Given the description of an element on the screen output the (x, y) to click on. 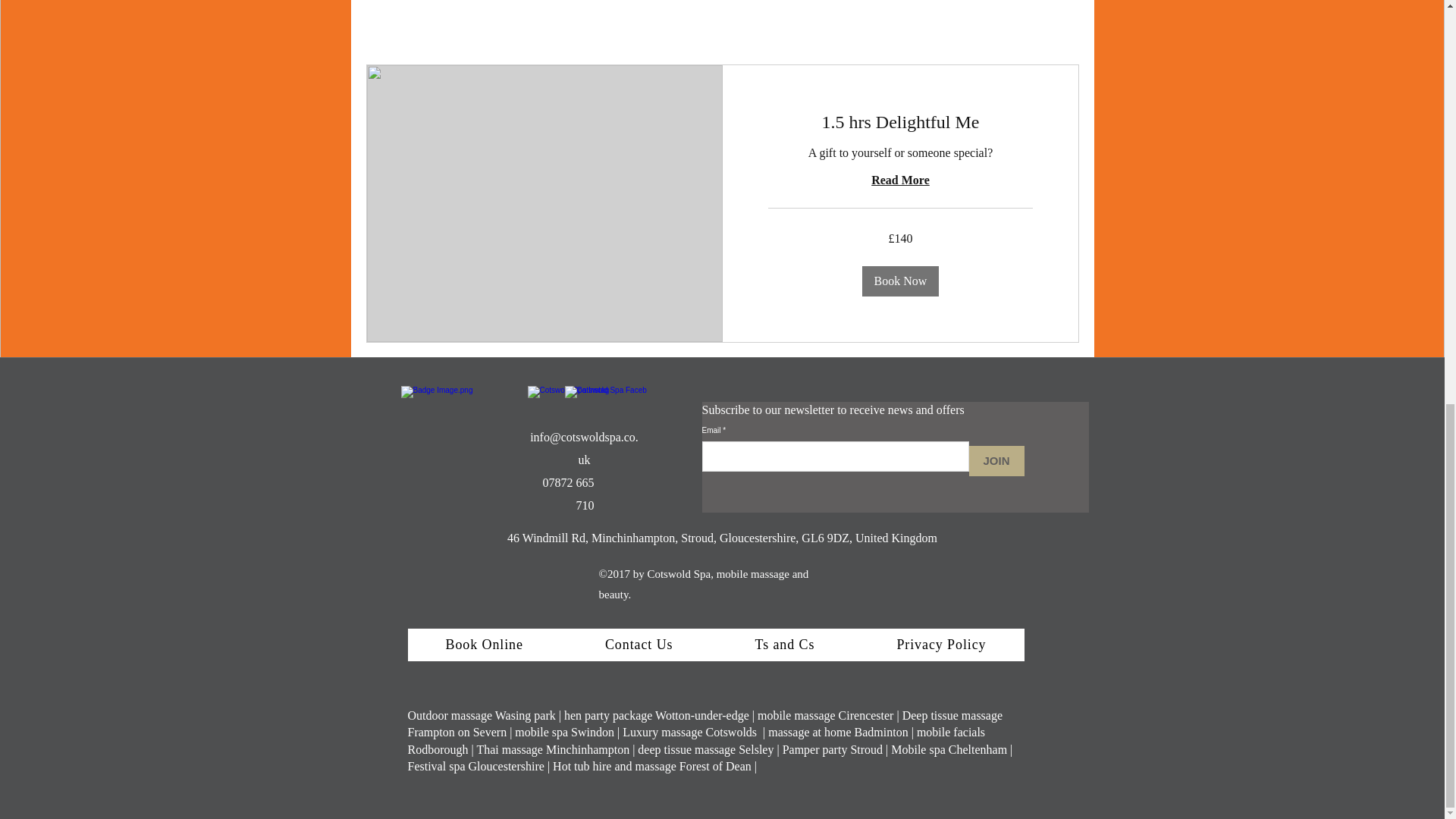
Book Online (483, 644)
Read More (899, 179)
1.5 hrs Delightful Me (899, 121)
Ts and Cs (785, 644)
Contact Us (639, 644)
Book Now (900, 280)
Privacy Policy (941, 644)
JOIN (997, 460)
